Given the description of an element on the screen output the (x, y) to click on. 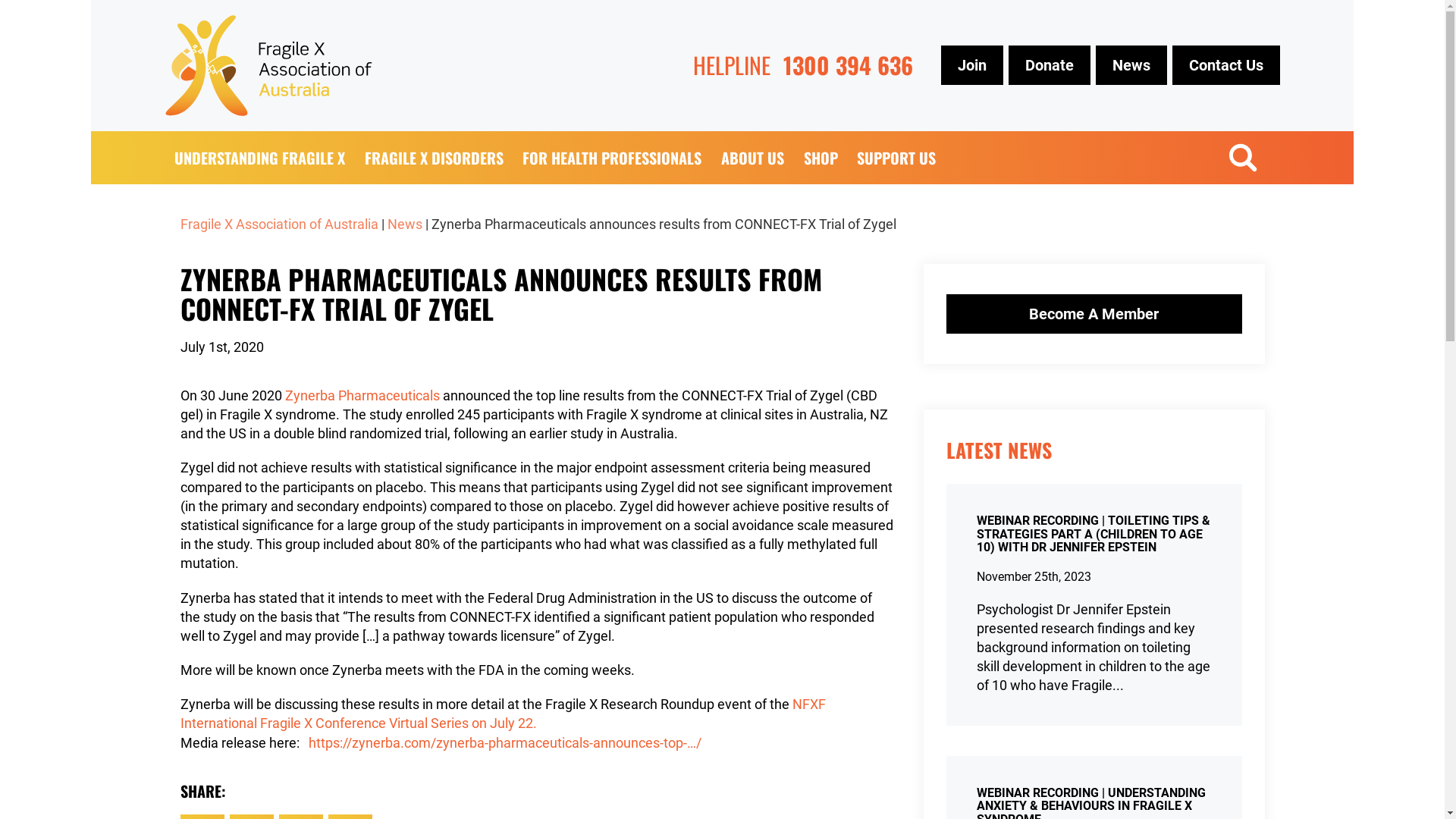
News Element type: text (403, 223)
FRAGILE X DISORDERS Element type: text (433, 156)
Open Search Element type: hover (1242, 156)
Become A Member Element type: text (1094, 313)
Fragile X Association of Australia Element type: text (279, 223)
SHOP Element type: text (820, 156)
Donate Element type: text (1049, 64)
Zynerba Pharmaceuticals Element type: text (362, 395)
ABOUT US Element type: text (752, 156)
Contact Us Element type: text (1226, 64)
FOR HEALTH PROFESSIONALS Element type: text (612, 156)
1300 394 636 Element type: text (847, 65)
SUPPORT US Element type: text (896, 156)
UNDERSTANDING FRAGILE X Element type: text (260, 156)
News Element type: text (1130, 64)
Join Element type: text (971, 64)
